Given the description of an element on the screen output the (x, y) to click on. 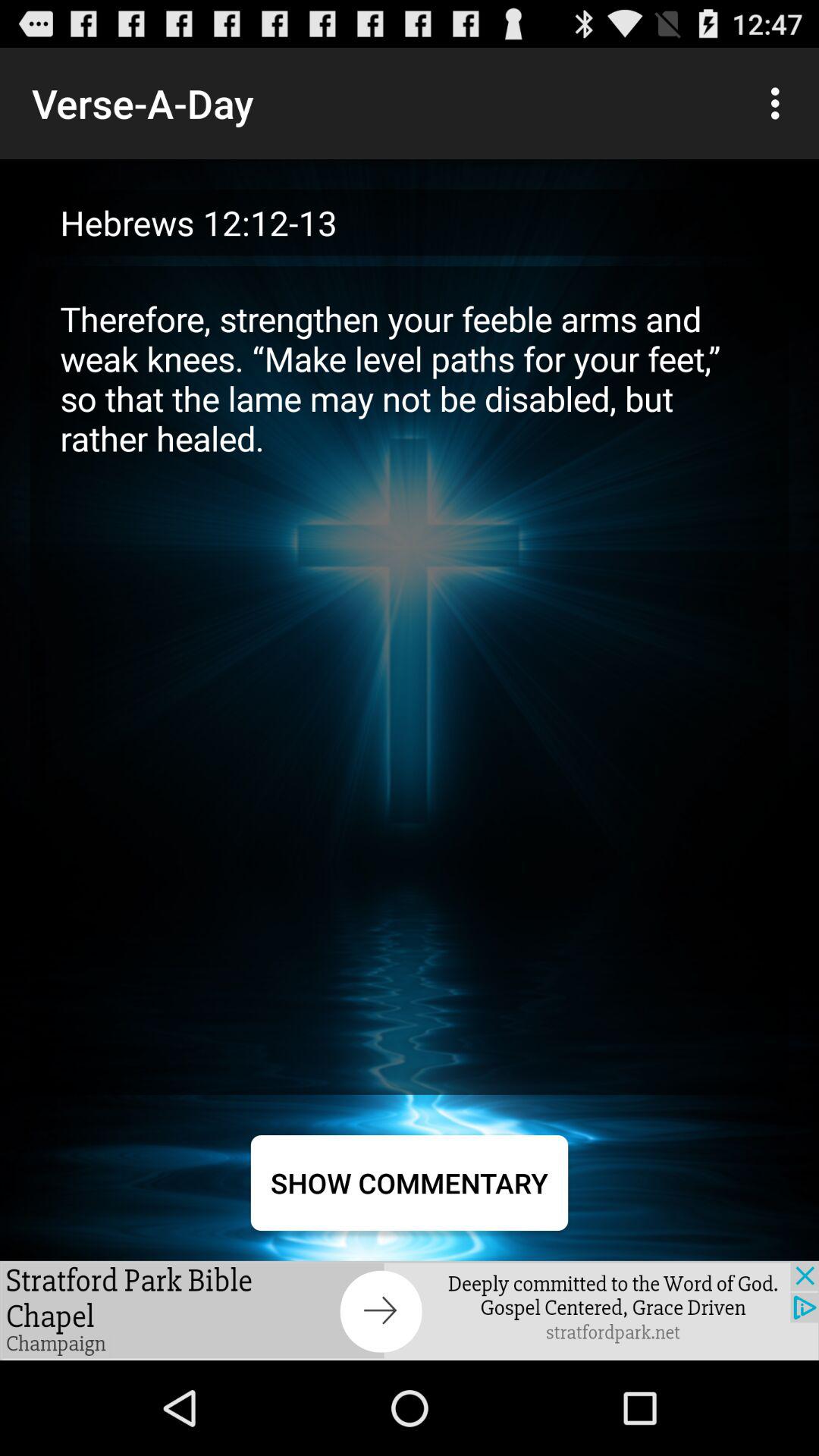
jump until the therefore strengthen your icon (409, 680)
